Given the description of an element on the screen output the (x, y) to click on. 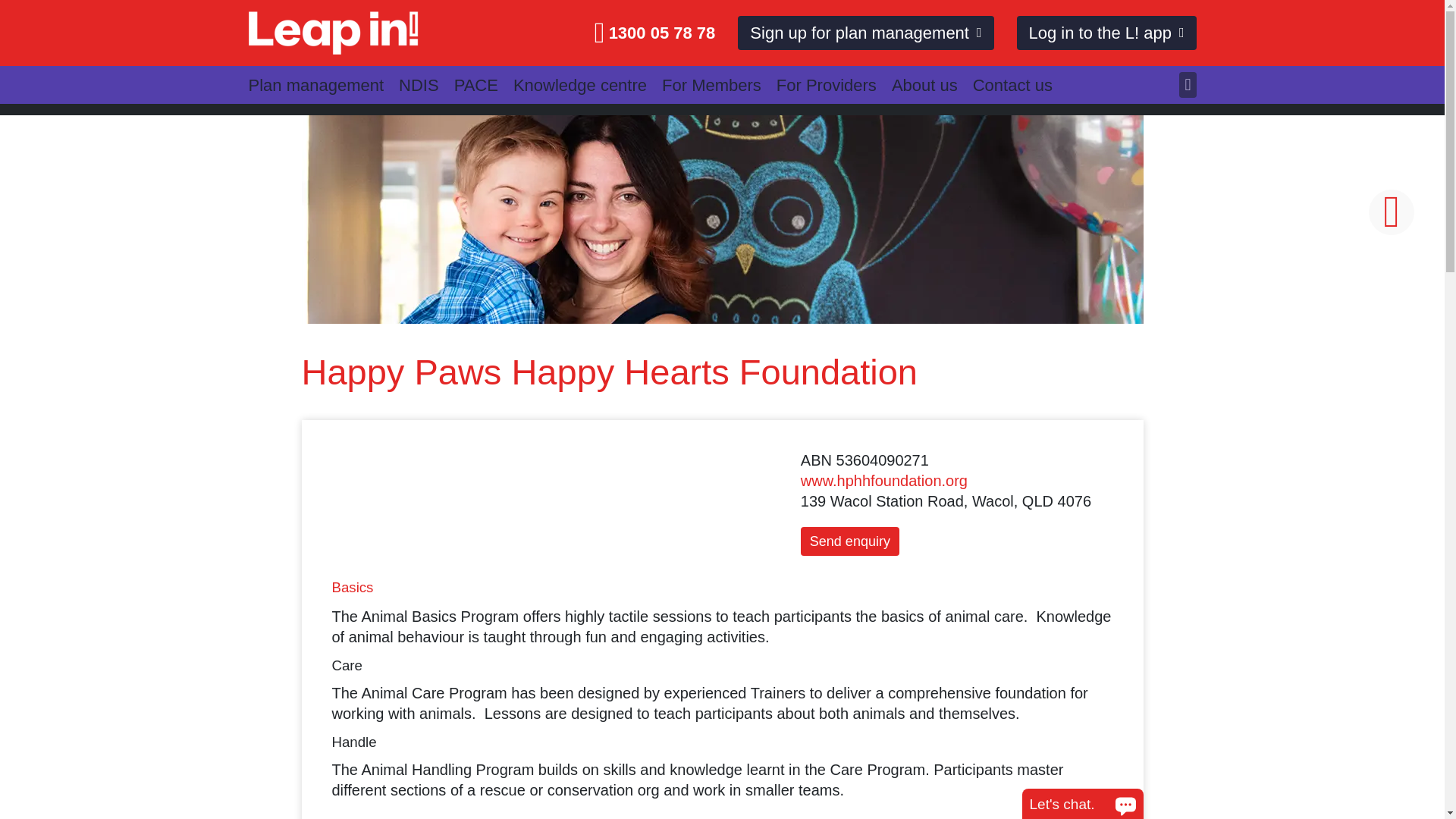
Plan management (323, 84)
NDIS (426, 84)
PACE (483, 84)
For Members (719, 84)
Sign up for plan management (865, 32)
Log in to the L! app (1106, 32)
Knowledge centre (587, 84)
